Given the description of an element on the screen output the (x, y) to click on. 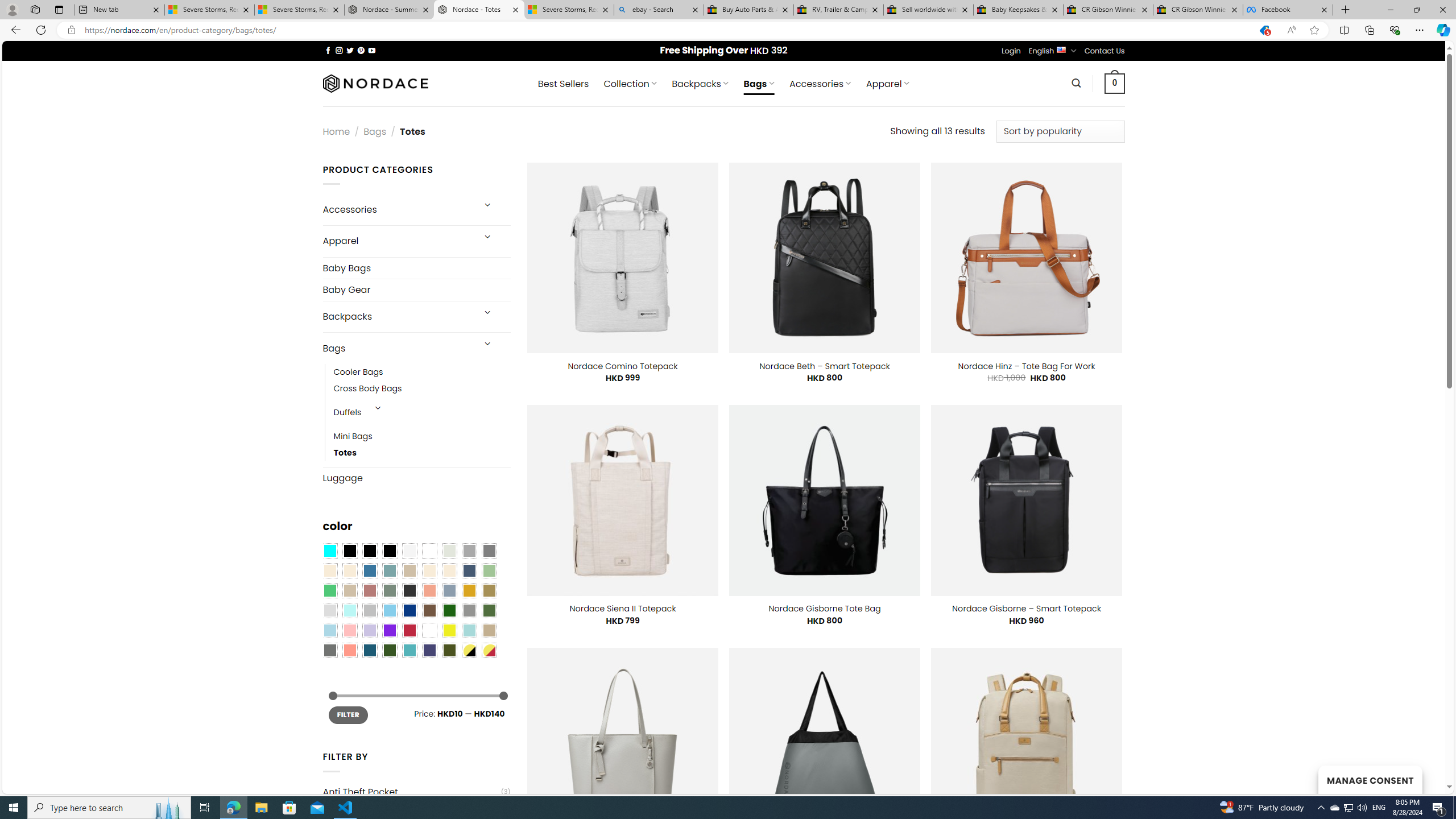
Capri Blue (369, 649)
Baby Bags (416, 267)
Dark Green (449, 610)
Silver (369, 610)
Follow on Facebook (327, 49)
Cream (449, 570)
Hale Navy (468, 570)
Forest (389, 649)
Sage (389, 590)
Cross Body Bags (422, 388)
